Given the description of an element on the screen output the (x, y) to click on. 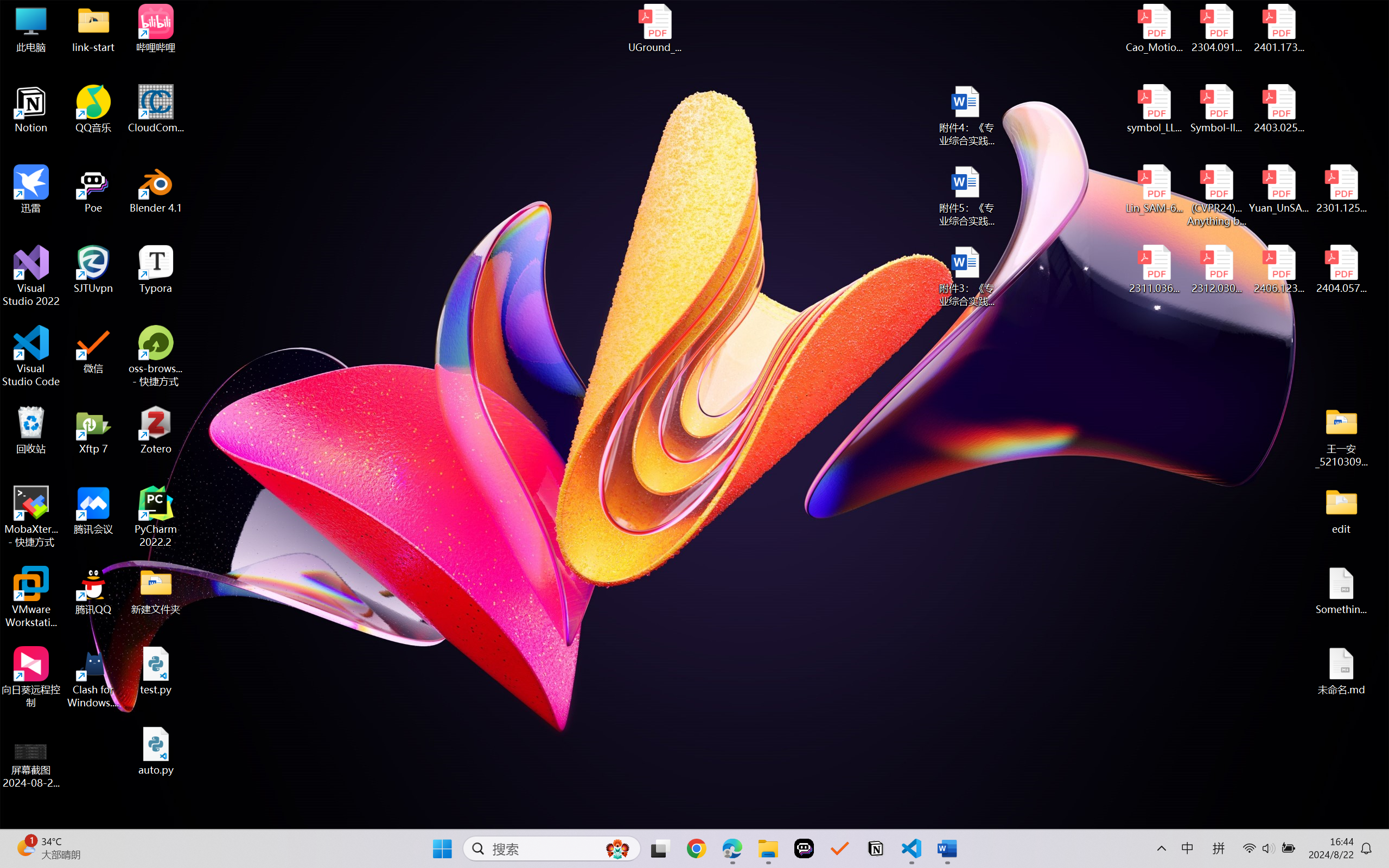
(CVPR24)Matching Anything by Segmenting Anything.pdf (1216, 195)
2401.17399v1.pdf (1278, 28)
symbol_LLM.pdf (1154, 109)
Something.md (1340, 591)
